Given the description of an element on the screen output the (x, y) to click on. 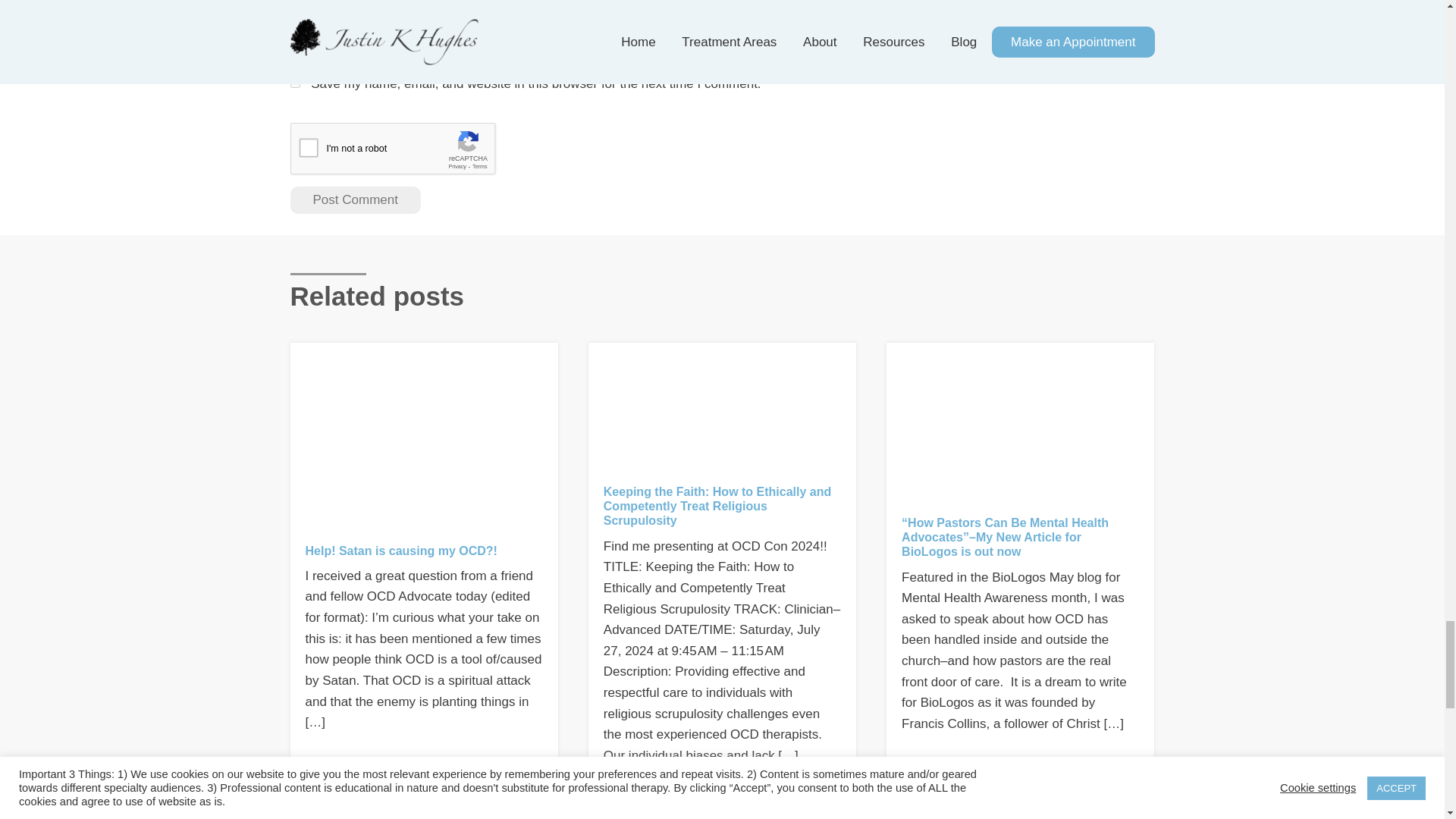
Post Comment (354, 199)
reCAPTCHA (404, 151)
yes (294, 82)
